Given the description of an element on the screen output the (x, y) to click on. 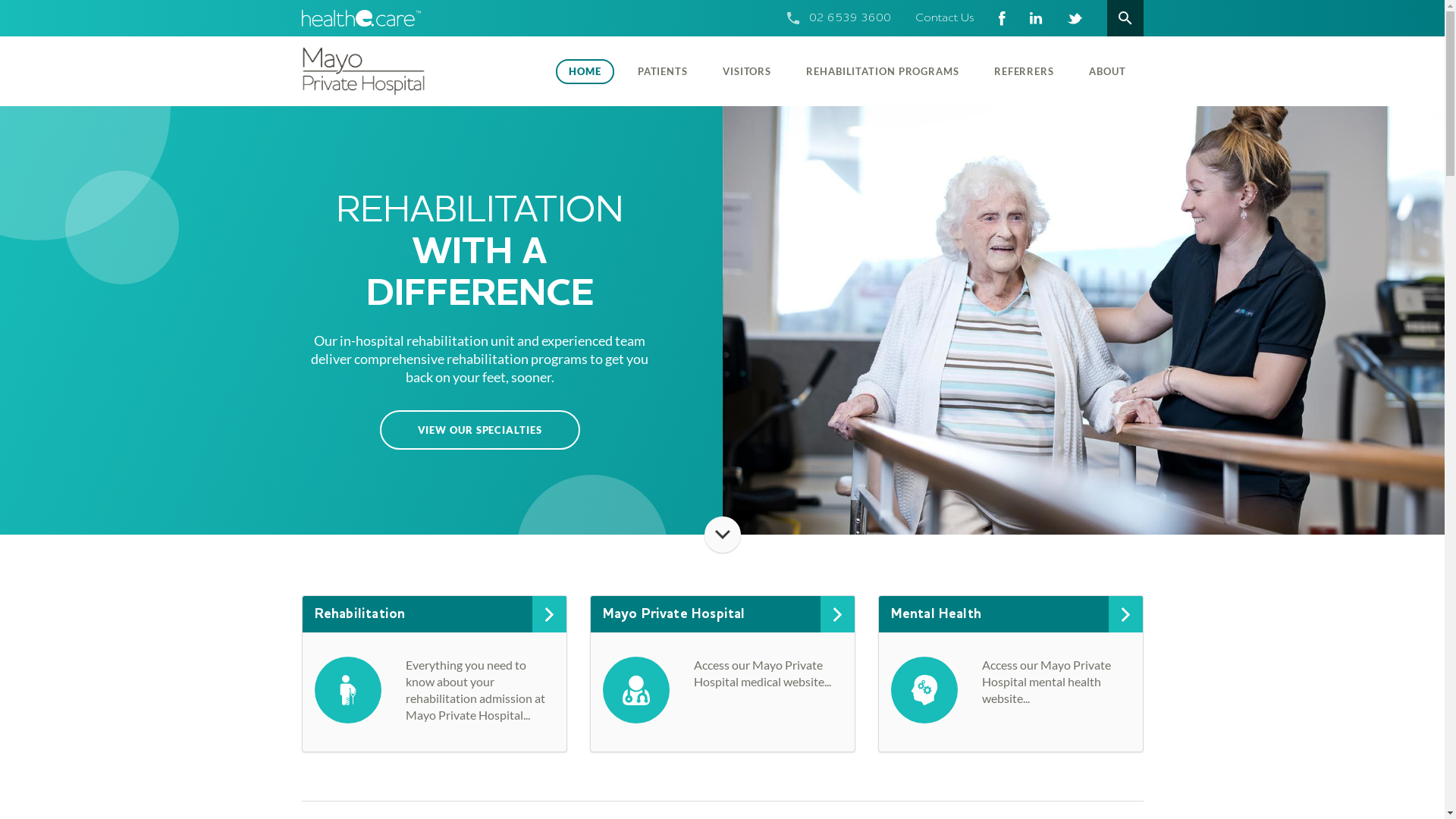
LinkedIn - 292626 Element type: text (1035, 18)
SCROLL TO MAIN CONTENT Element type: text (721, 534)
HOME
(CURRENT) Element type: text (584, 71)
REFERRERS Element type: text (1023, 70)
ABOUT Element type: text (1107, 70)
Facebook page - HealtheCareAust Element type: text (1000, 17)
VISITORS Element type: text (746, 70)
02 6539 3600 Element type: text (849, 18)
Mayo Private Rehabilitation Element type: text (399, 71)
REHABILITATION PROGRAMS Element type: text (882, 70)
PATIENTS Element type: text (662, 70)
Twitter - HealtheCareAustralia Element type: text (1074, 17)
Contact Us Element type: text (943, 18)
VIEW OUR SPECIALTIES Element type: text (479, 429)
